Given the description of an element on the screen output the (x, y) to click on. 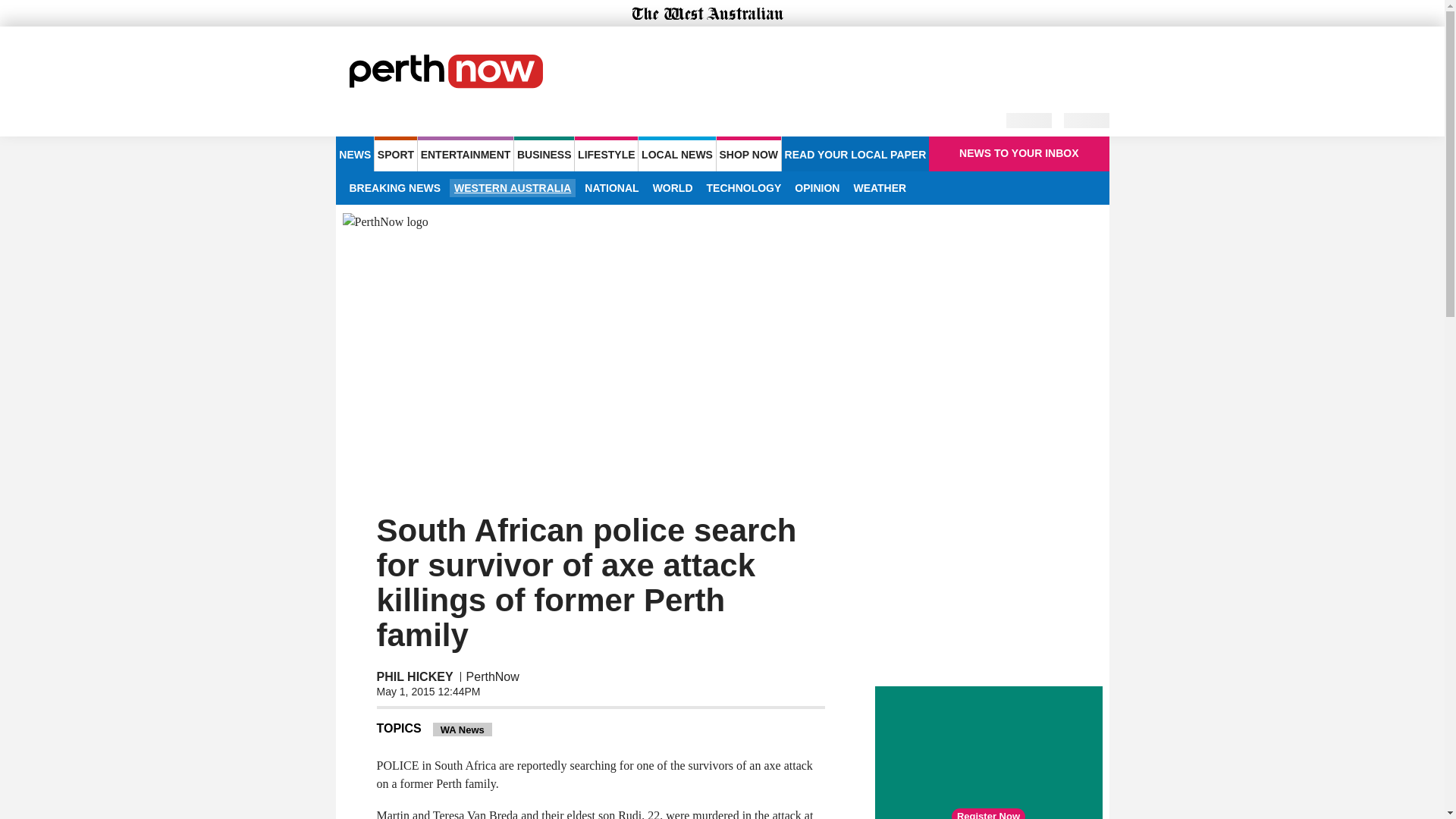
BUSINESS (543, 153)
SPORT (395, 153)
NEWS (354, 153)
ENTERTAINMENT (465, 153)
